Given the description of an element on the screen output the (x, y) to click on. 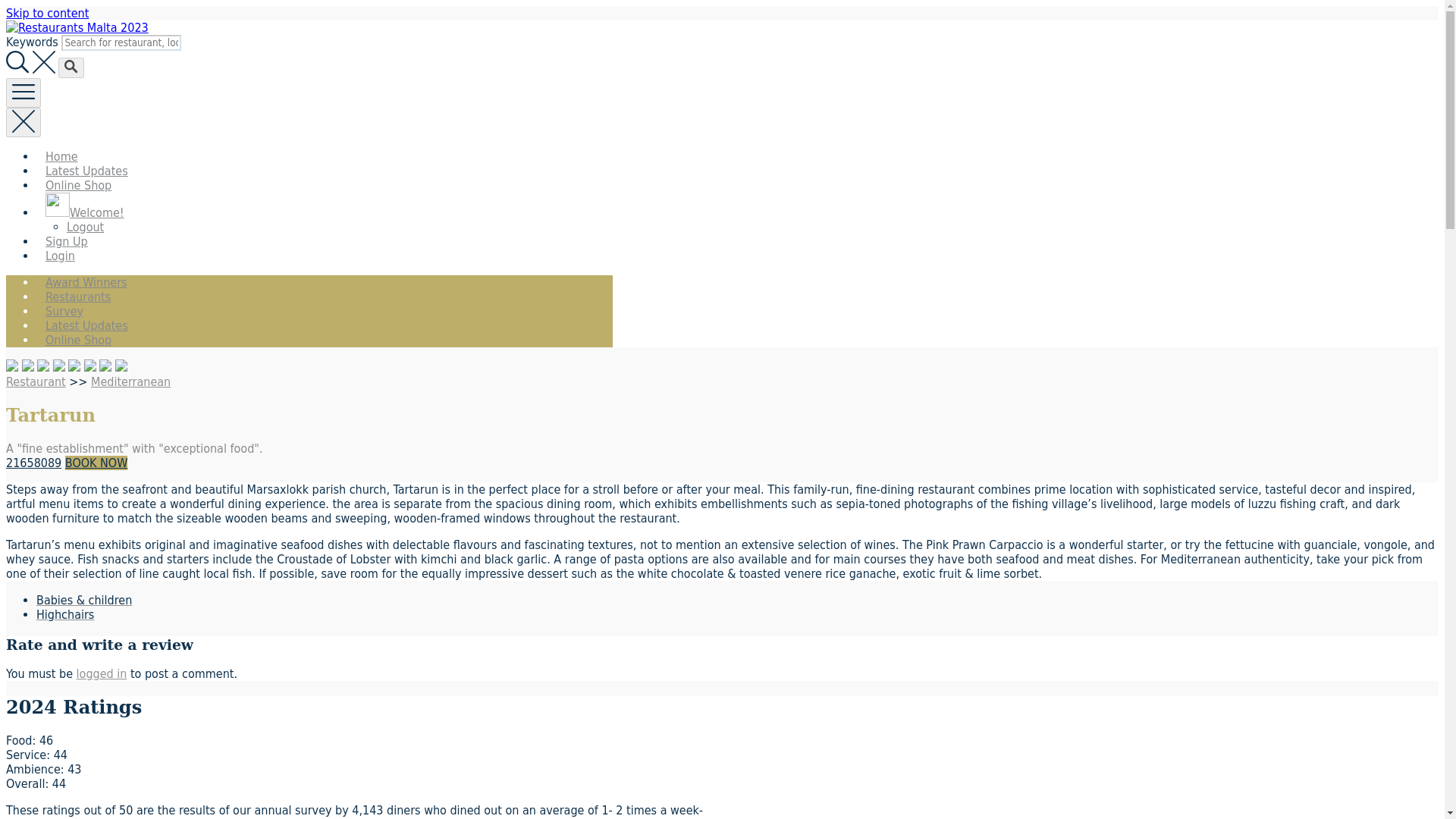
Latest Updates (86, 170)
Award Winners (86, 282)
Survey (64, 310)
Skip to content (46, 12)
Welcome! (84, 212)
Login (60, 255)
Home (61, 156)
logged in (102, 673)
Mediterranean (130, 381)
BOOK NOW (96, 462)
